Given the description of an element on the screen output the (x, y) to click on. 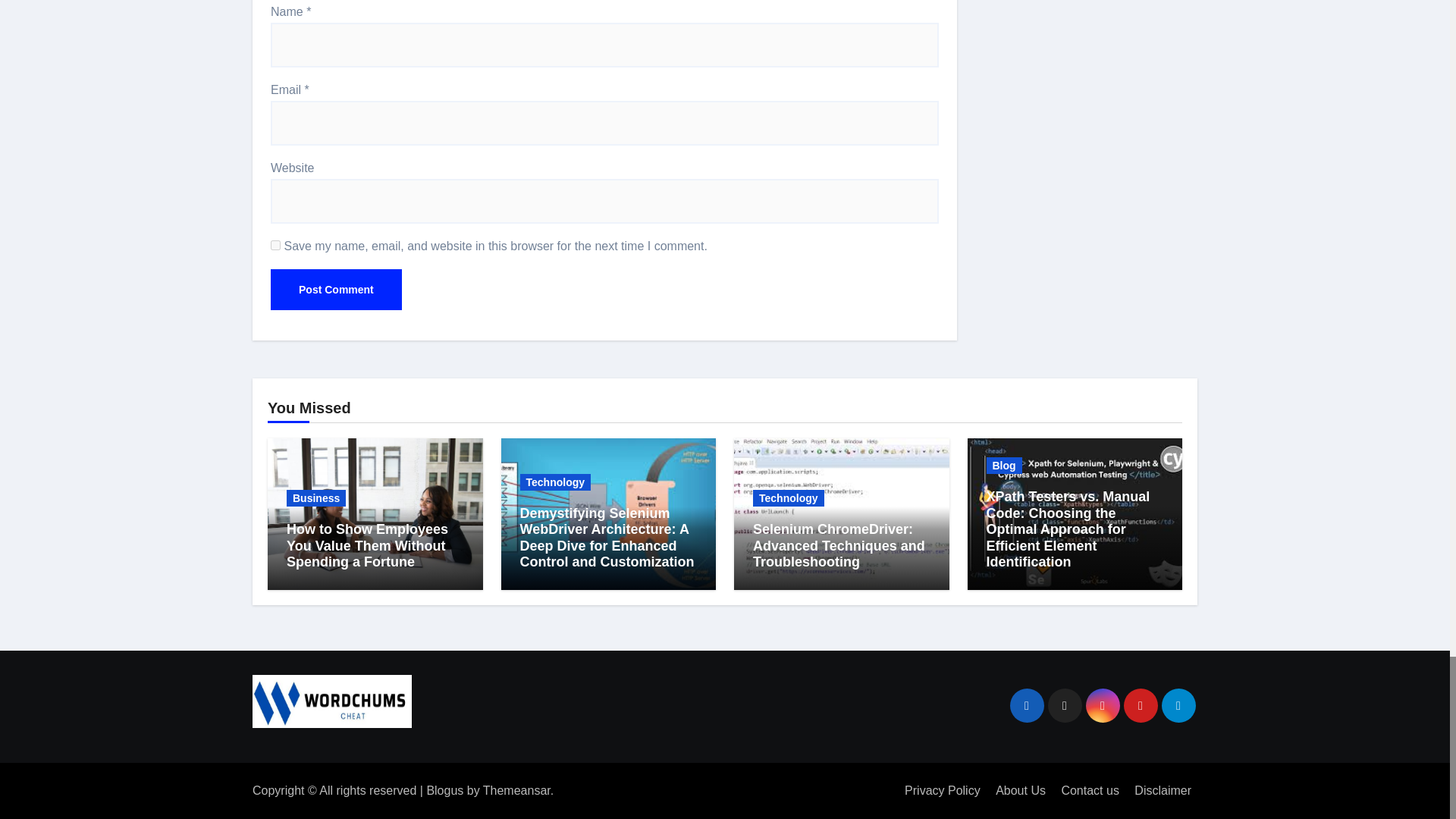
yes (275, 245)
About Us (1020, 790)
Contact us (1089, 790)
Post Comment (335, 289)
Privacy Policy (942, 790)
